Given the description of an element on the screen output the (x, y) to click on. 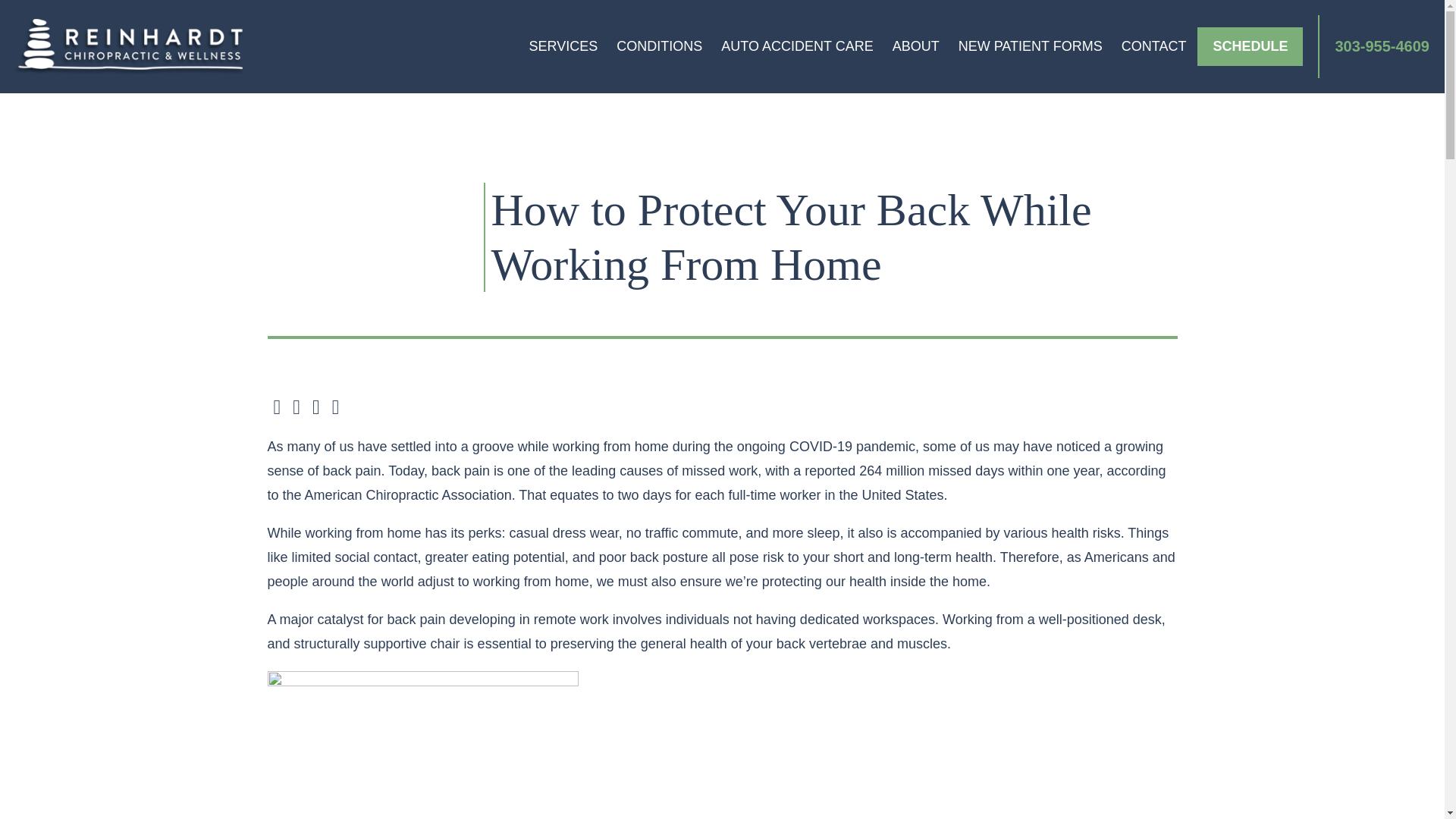
SERVICES (563, 46)
CONDITIONS (659, 46)
AUTO ACCIDENT CARE (796, 46)
